Given the description of an element on the screen output the (x, y) to click on. 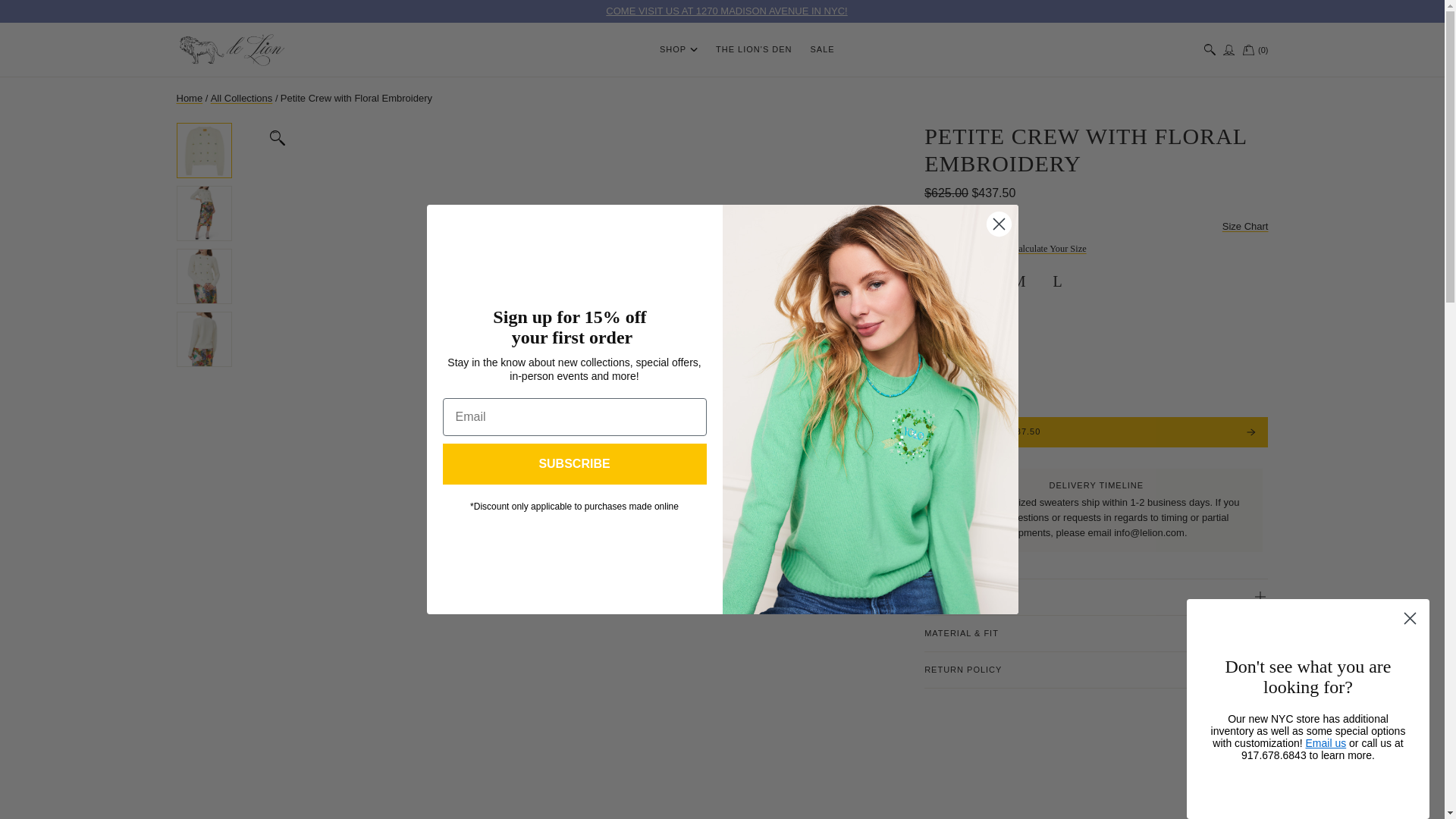
All Collections (1255, 49)
Close dialog 1 (242, 98)
Close dialog 6 (998, 223)
DESCRIPTION (1409, 618)
COME VISIT US AT 1270 MADISON AVENUE IN NYC! (1096, 597)
Le Lion (726, 10)
Home (232, 48)
Le Lion NYC (189, 98)
Size Chart (726, 10)
Your Bag (1245, 226)
Gardenia (1255, 49)
Sable Black (943, 352)
SHOP (979, 352)
THE LION'S DEN (678, 49)
